Given the description of an element on the screen output the (x, y) to click on. 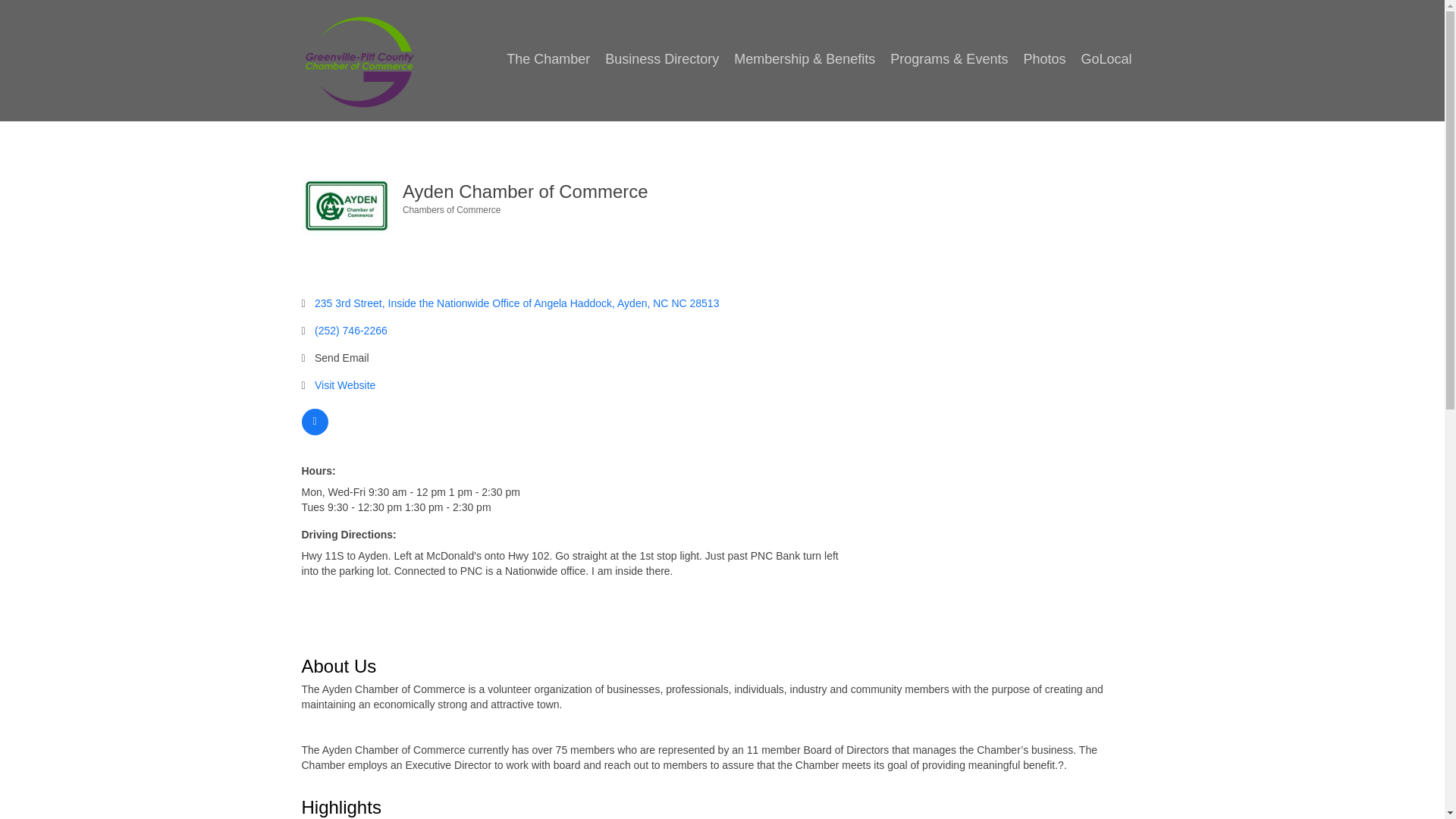
Photos (1043, 59)
GoLocal (1105, 59)
Business Directory (661, 59)
Ayden Chamber of Commerce (346, 205)
The Chamber (547, 59)
View on Facebook (315, 431)
